Given the description of an element on the screen output the (x, y) to click on. 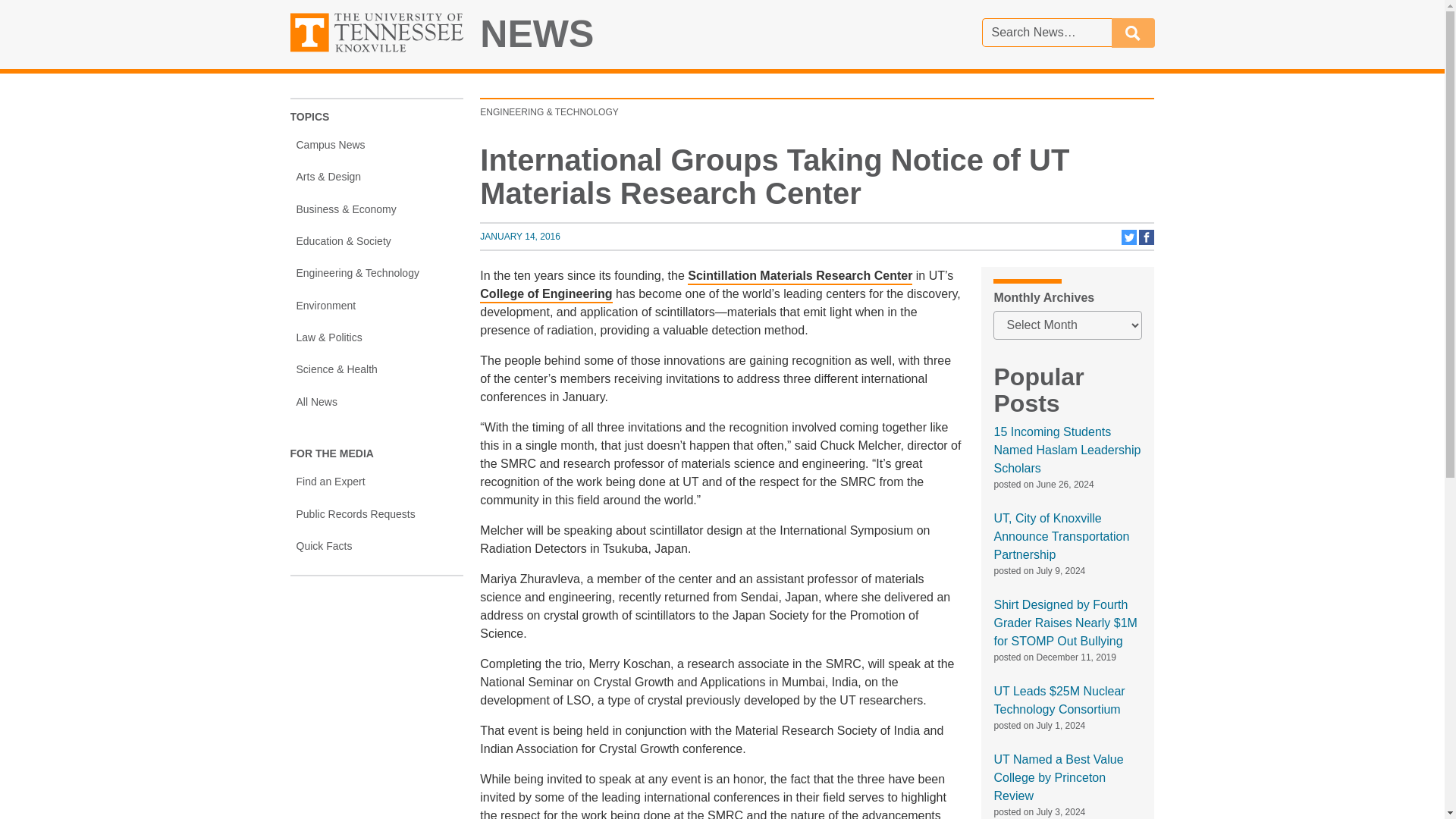
Environment (376, 305)
Scintillation Materials Research Center (799, 277)
College of Engineering (545, 295)
Public Records Requests (376, 513)
15 Incoming Students Named Haslam Leadership Scholars (520, 235)
Share on Twitter. (1066, 450)
Campus News (1129, 241)
All News (376, 144)
NEWS (376, 401)
Share on Facebook. (537, 34)
Search (1146, 241)
UT, City of Knoxville Announce Transportation Partnership (1133, 32)
Search for: (1060, 536)
Quick Facts (1045, 32)
